Given the description of an element on the screen output the (x, y) to click on. 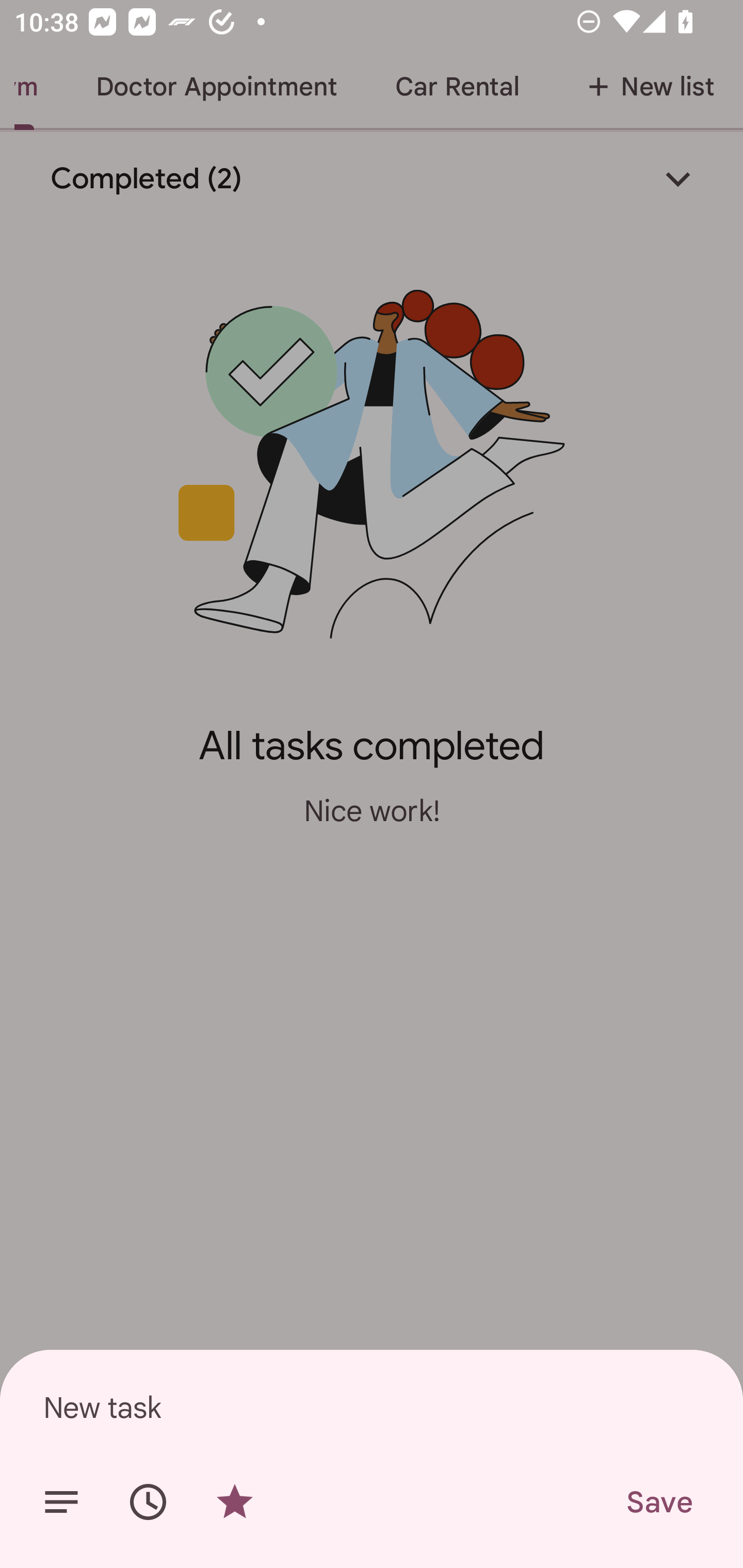
New task (371, 1407)
Save (659, 1501)
Add details (60, 1501)
Set date/time (147, 1501)
Remove star (234, 1501)
